Given the description of an element on the screen output the (x, y) to click on. 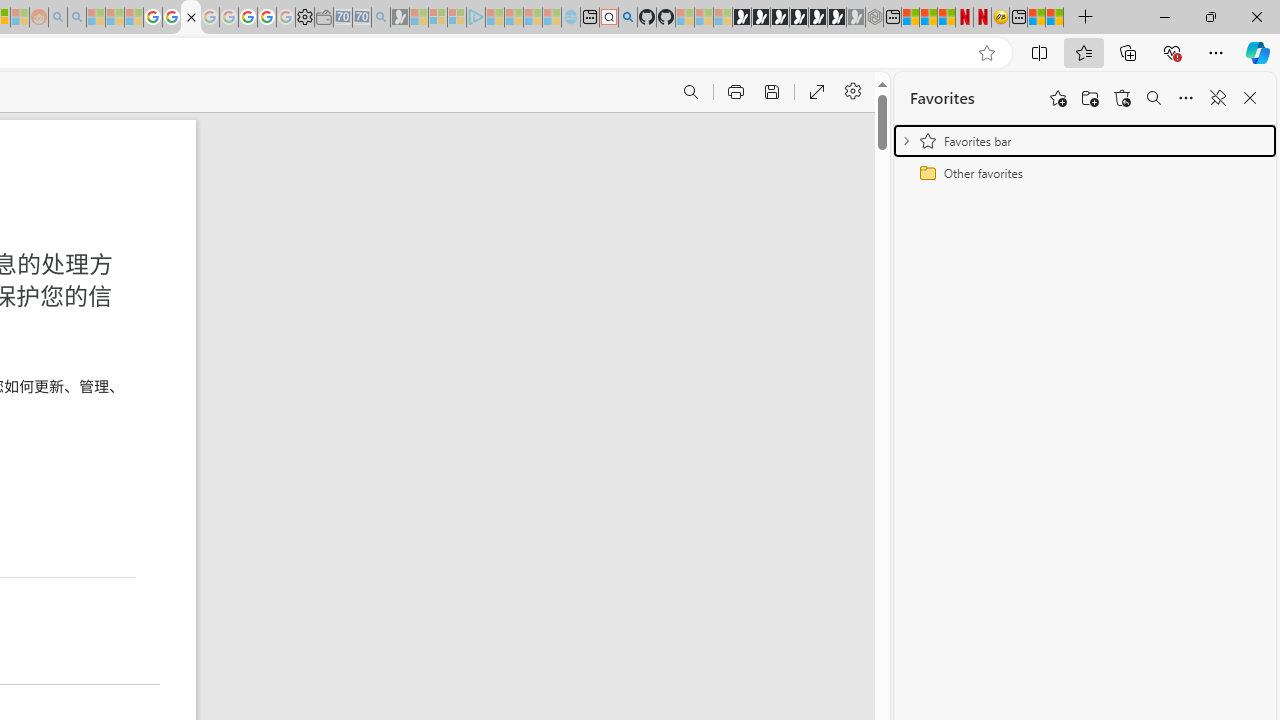
Add folder (1089, 98)
Settings and more (852, 92)
